Given the description of an element on the screen output the (x, y) to click on. 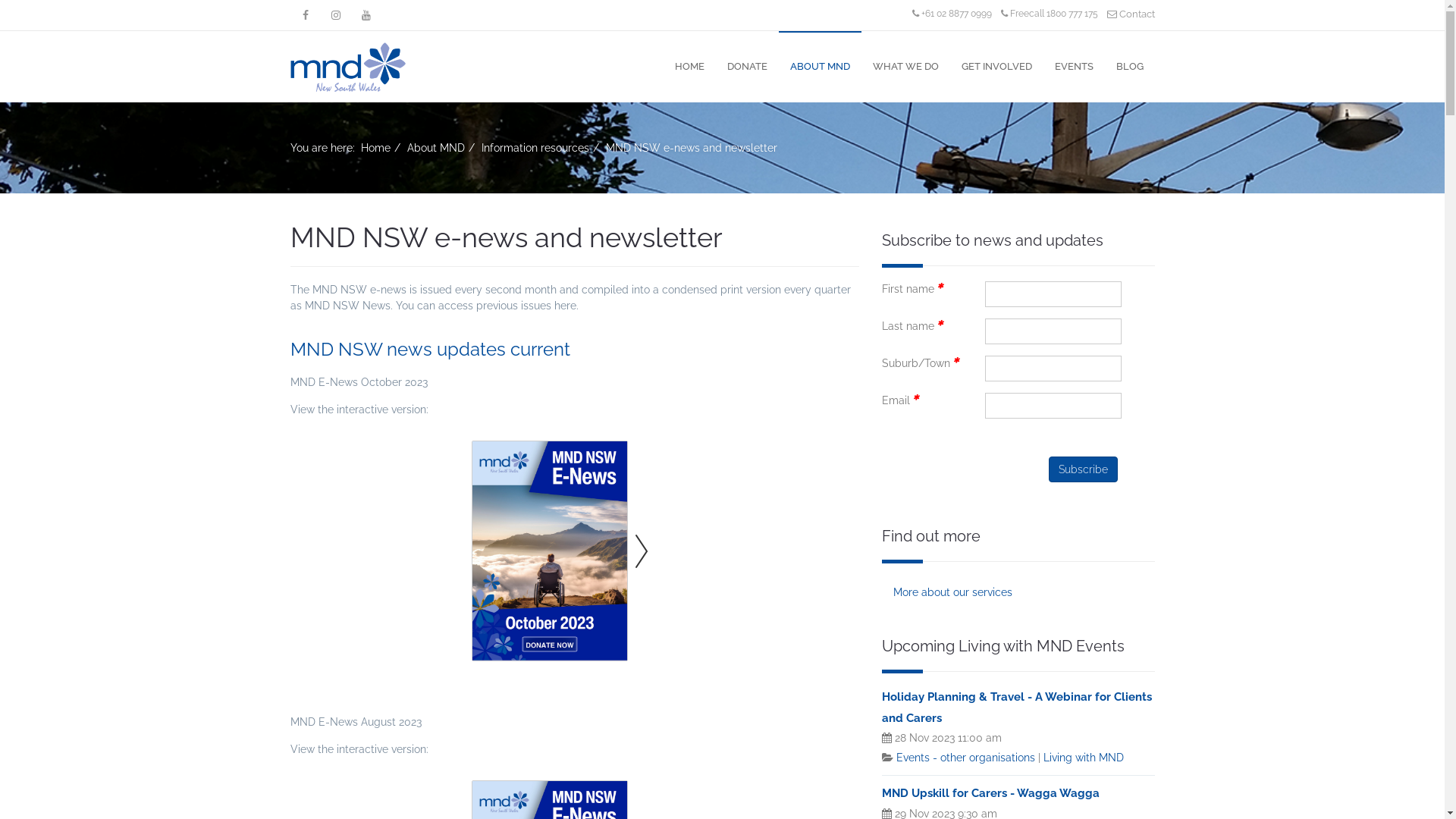
MND Upskill for Carers - Wagga Wagga Element type: text (989, 793)
Instagram Element type: hover (335, 15)
About MND Element type: text (435, 147)
DONATE Element type: text (746, 62)
EVENTS Element type: text (1073, 62)
Contact Element type: text (1130, 13)
Home Element type: text (375, 147)
Facebook Element type: hover (304, 15)
More about our services Element type: text (1017, 592)
MND NSW news updates current Element type: text (429, 349)
WHAT WE DO Element type: text (905, 62)
GET INVOLVED Element type: text (995, 62)
Holiday Planning & Travel - A Webinar for Clients and Carers Element type: text (1016, 707)
Living with MND Element type: text (1083, 757)
BLOG Element type: text (1129, 62)
YouTube Element type: hover (365, 15)
ABOUT MND Element type: text (819, 62)
Information resources Element type: text (534, 147)
-Motor Neurone Disease NSW (MND NSW) Element type: hover (346, 66)
Subscribe Element type: text (1082, 469)
Events - other organisations Element type: text (965, 757)
HOME Element type: text (688, 62)
